Given the description of an element on the screen output the (x, y) to click on. 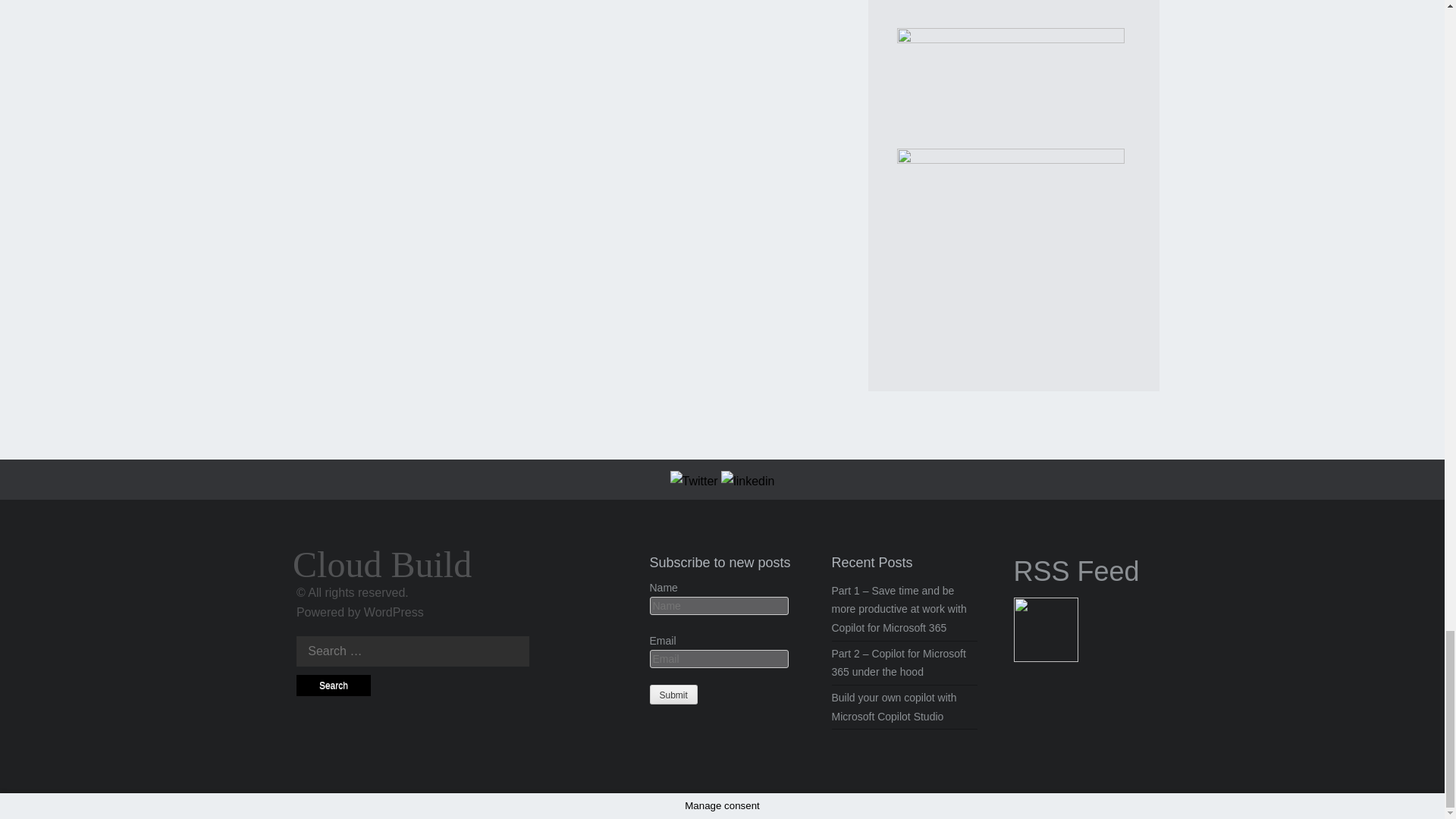
Submit (673, 694)
A Semantic Personal Publishing Platform (393, 612)
Search (334, 685)
Search (334, 685)
